Given the description of an element on the screen output the (x, y) to click on. 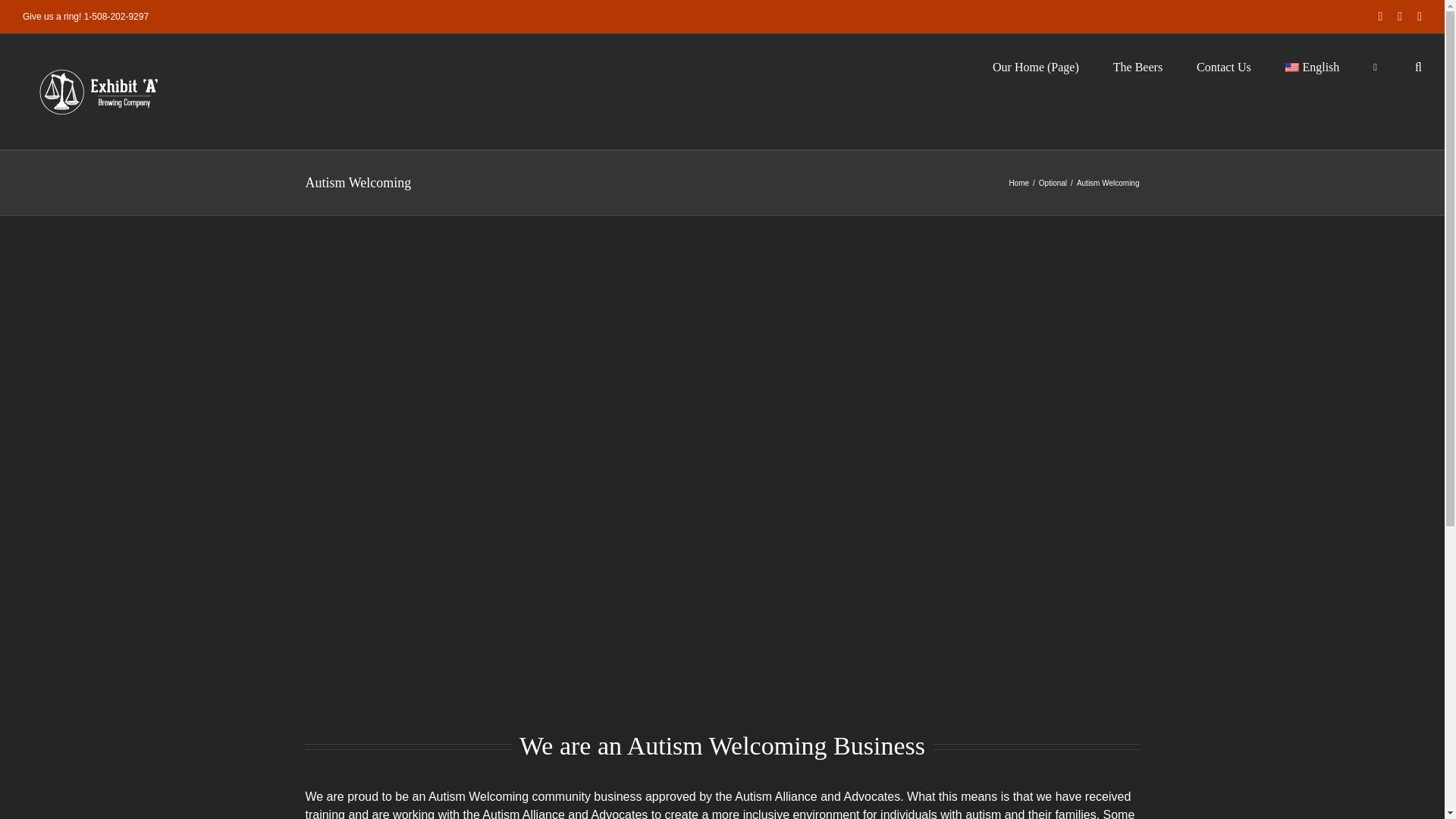
Home (1019, 183)
1-508-202-9297 (116, 16)
Optional (1053, 183)
